Given the description of an element on the screen output the (x, y) to click on. 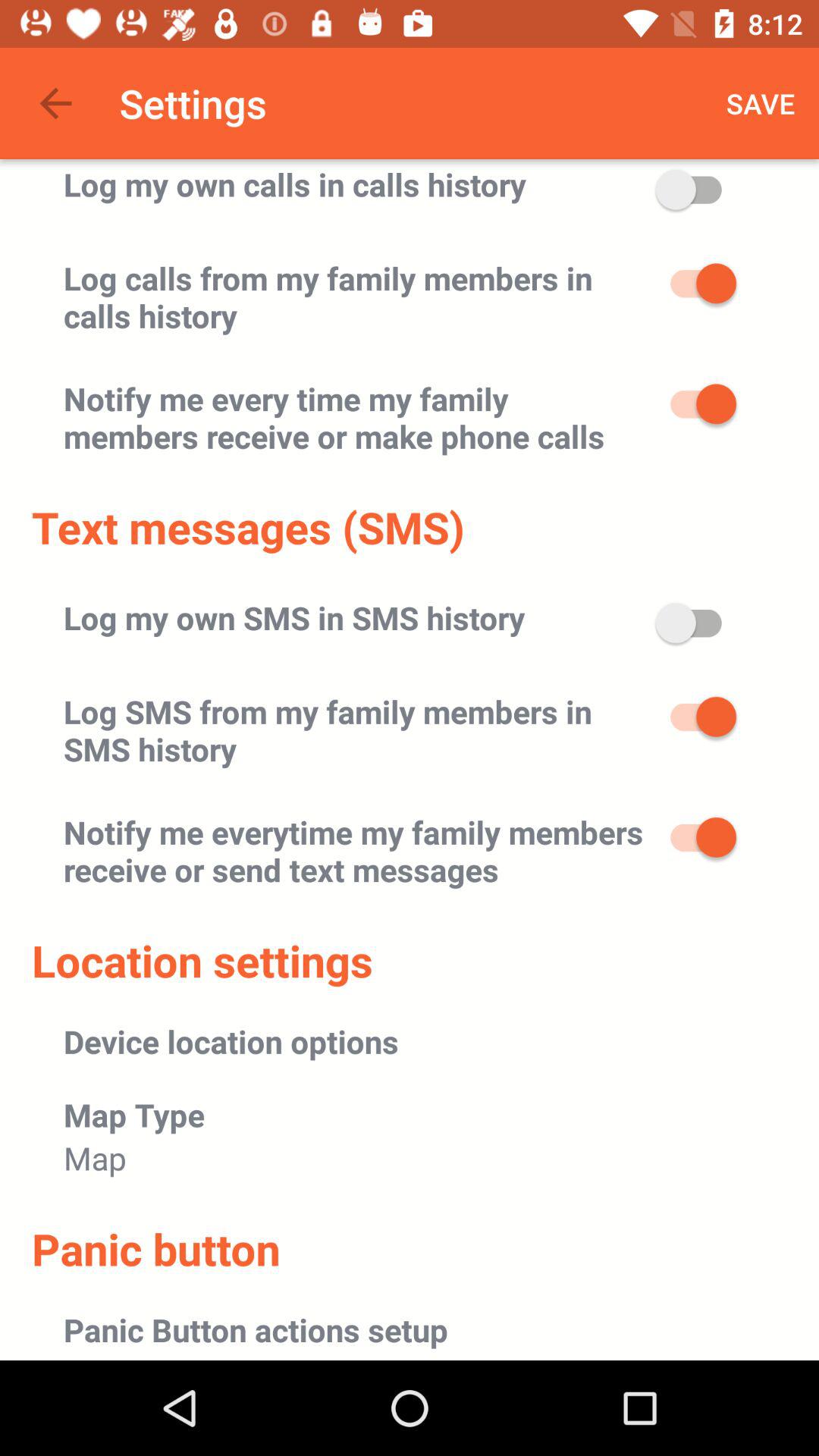
scroll until save item (760, 103)
